Given the description of an element on the screen output the (x, y) to click on. 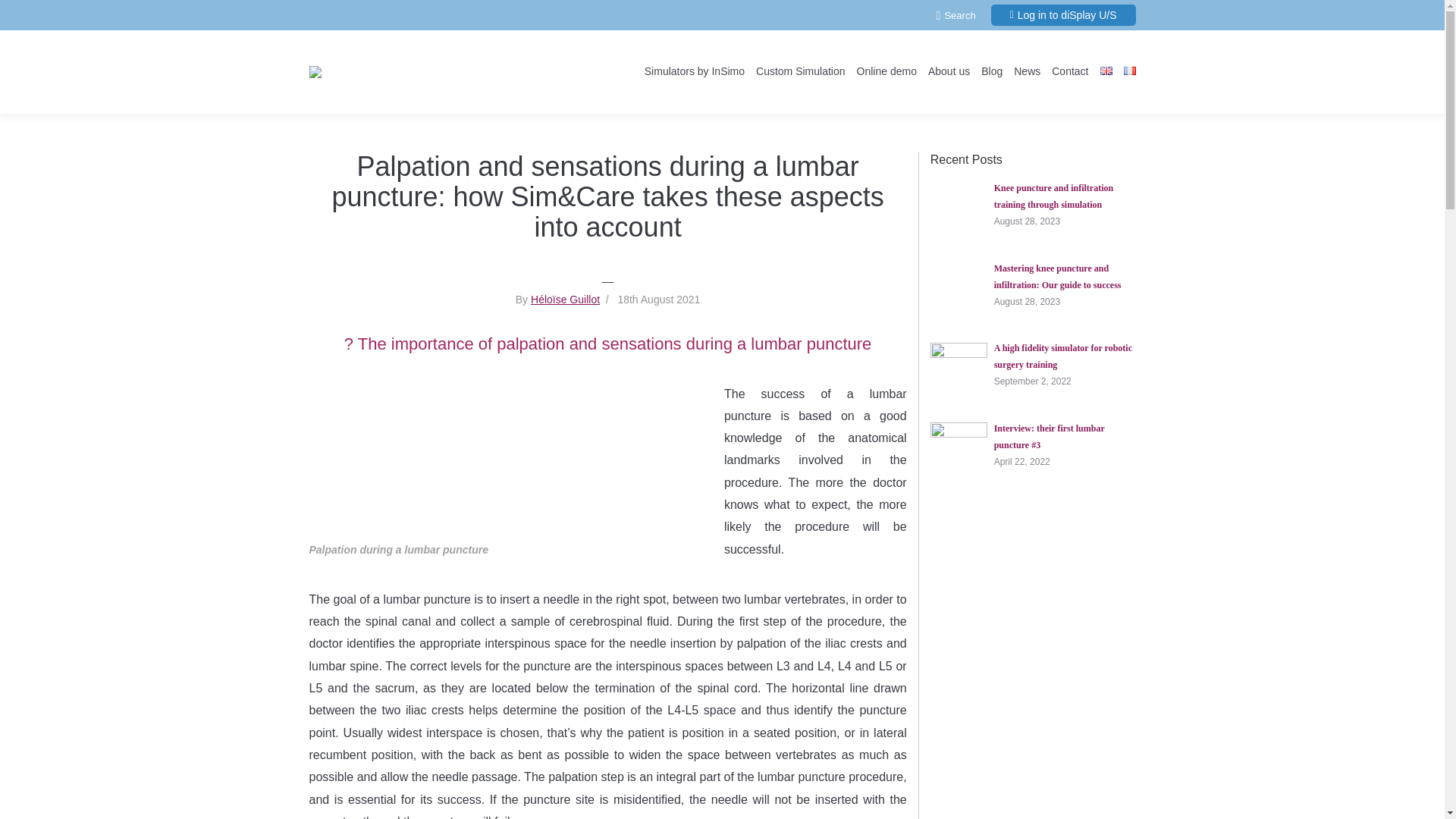
Go! (22, 14)
Custom Simulation (800, 70)
Go to Top (1420, 794)
Simulators by InSimo (694, 70)
palpation lumbar puncture (503, 461)
Search (955, 14)
Online demo (887, 70)
